Given the description of an element on the screen output the (x, y) to click on. 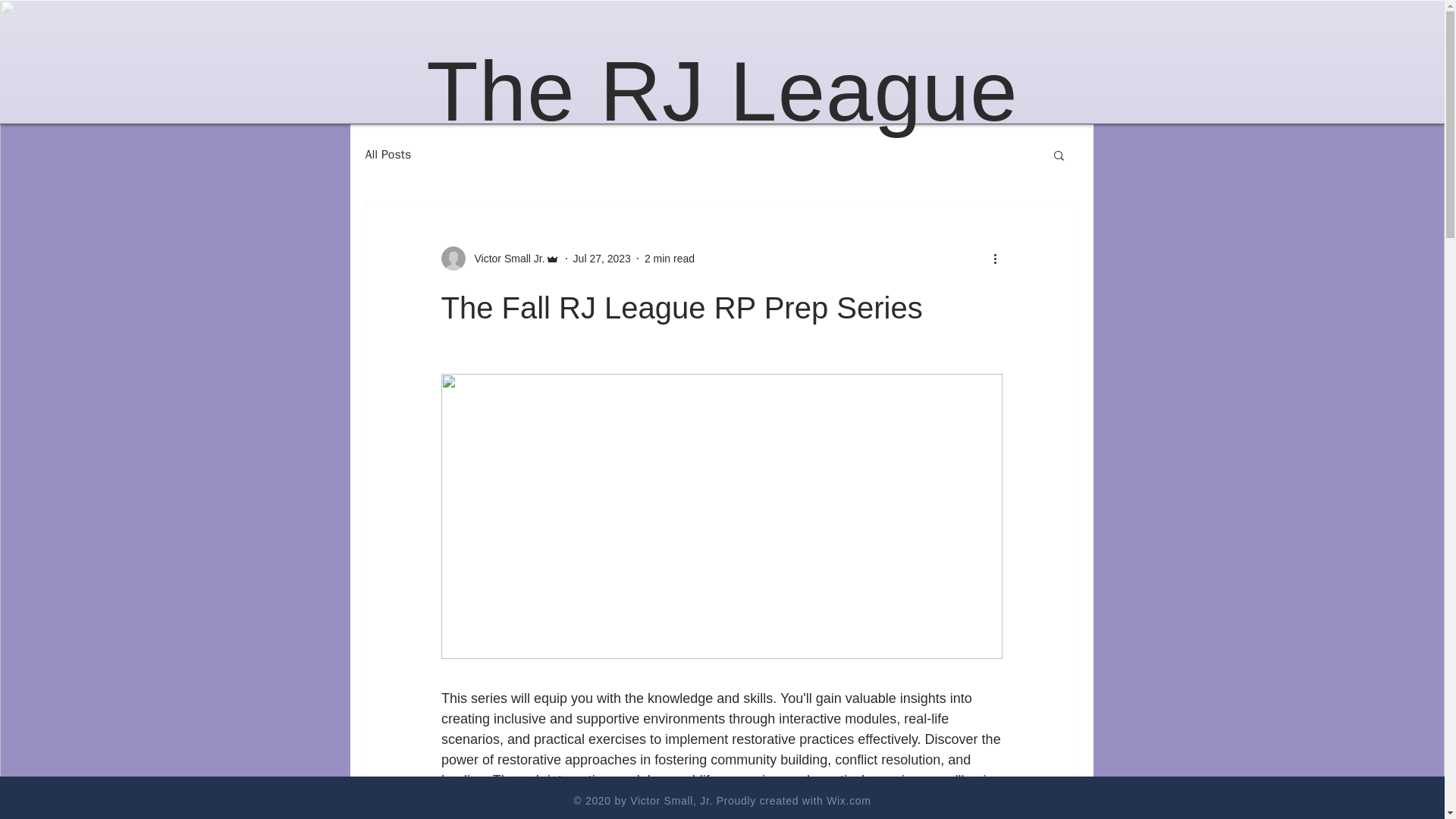
All Posts (388, 154)
Jul 27, 2023 (601, 257)
2 min read (669, 257)
Victor  Small Jr. (504, 258)
Proudly created with Wix.com (793, 800)
Victor Small Jr. (500, 258)
